Given the description of an element on the screen output the (x, y) to click on. 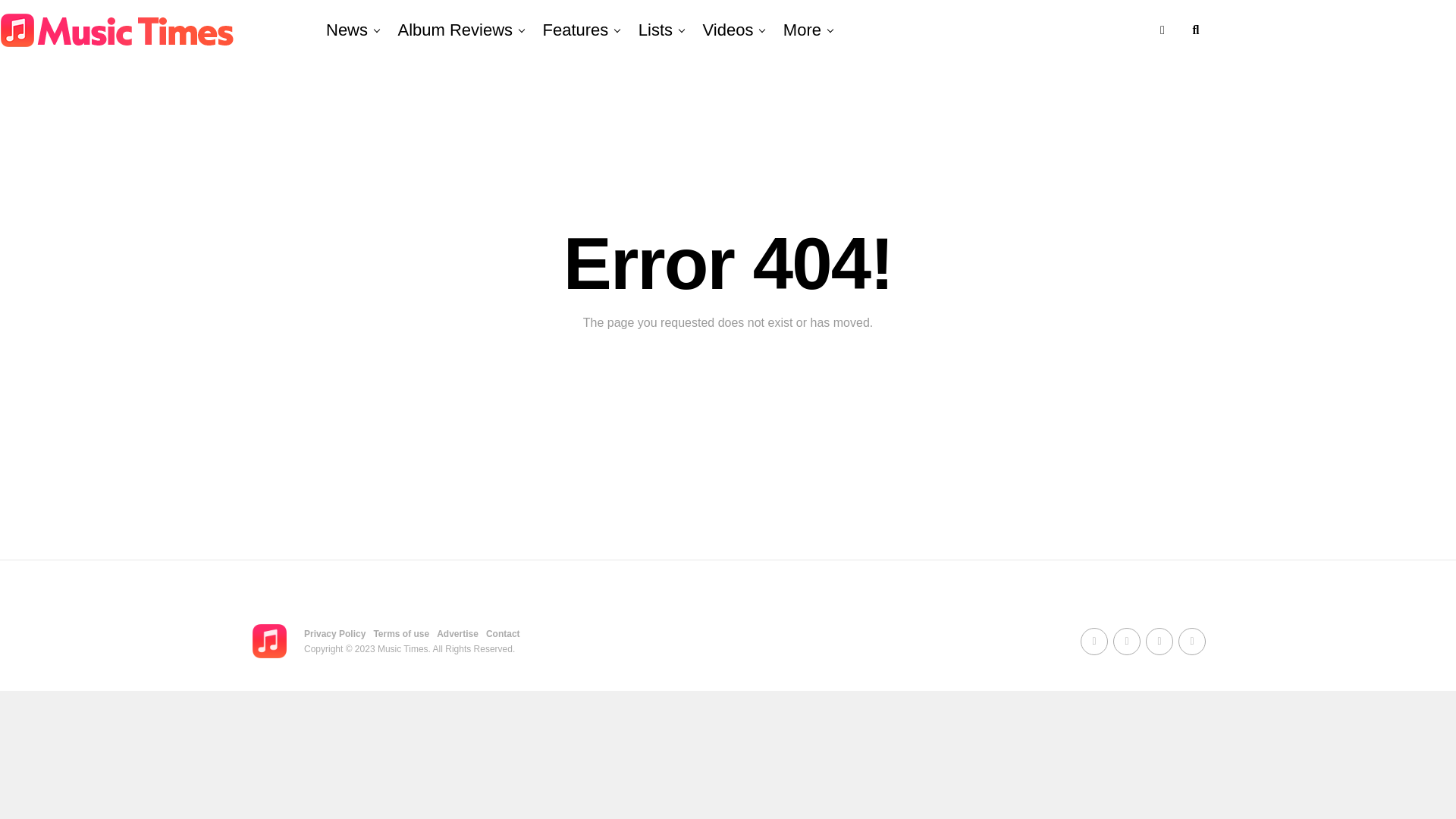
Album Reviews (454, 30)
Features (575, 30)
Videos (728, 30)
News (346, 30)
